Given the description of an element on the screen output the (x, y) to click on. 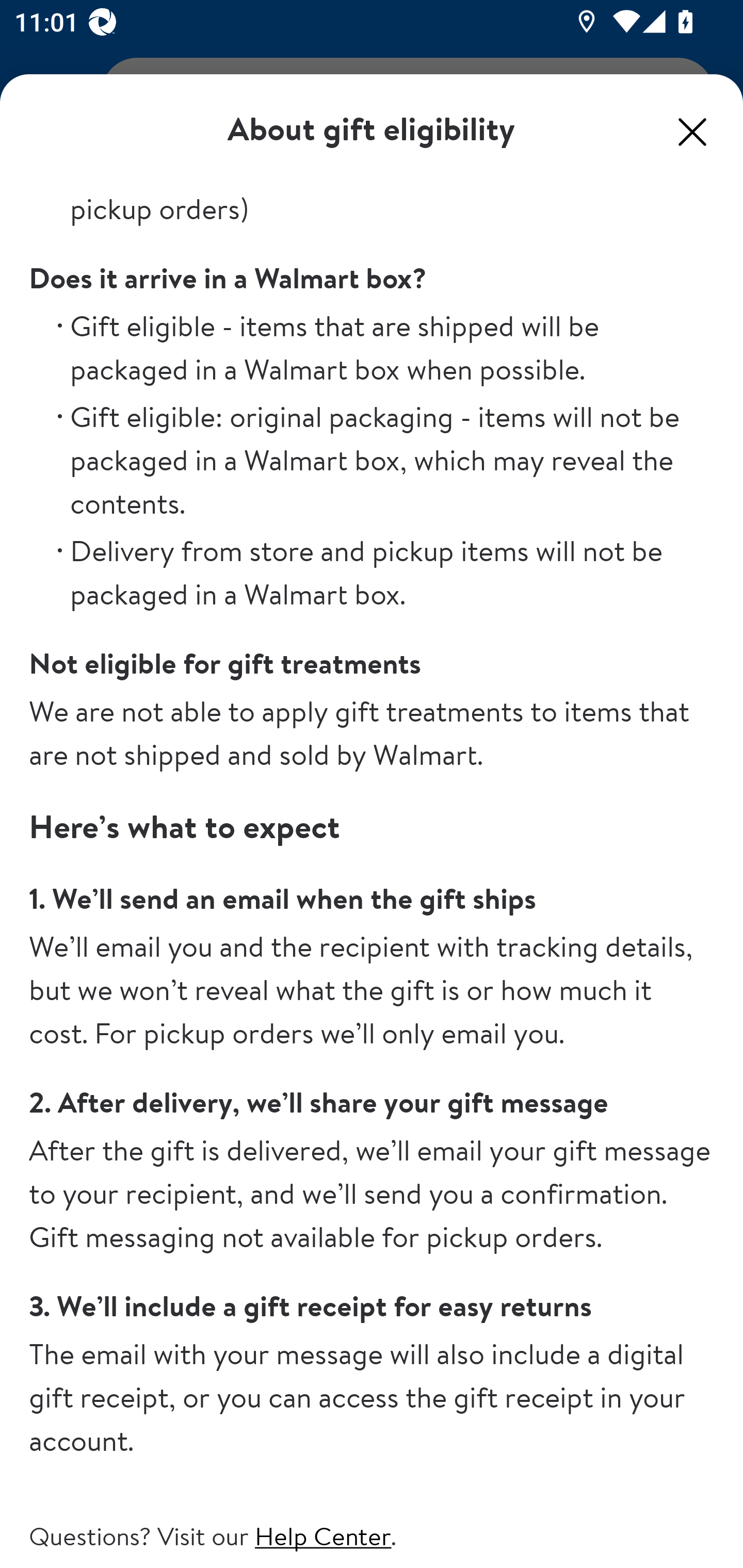
Close (692, 131)
Questions? Visit our Help Center. (371, 1535)
